Given the description of an element on the screen output the (x, y) to click on. 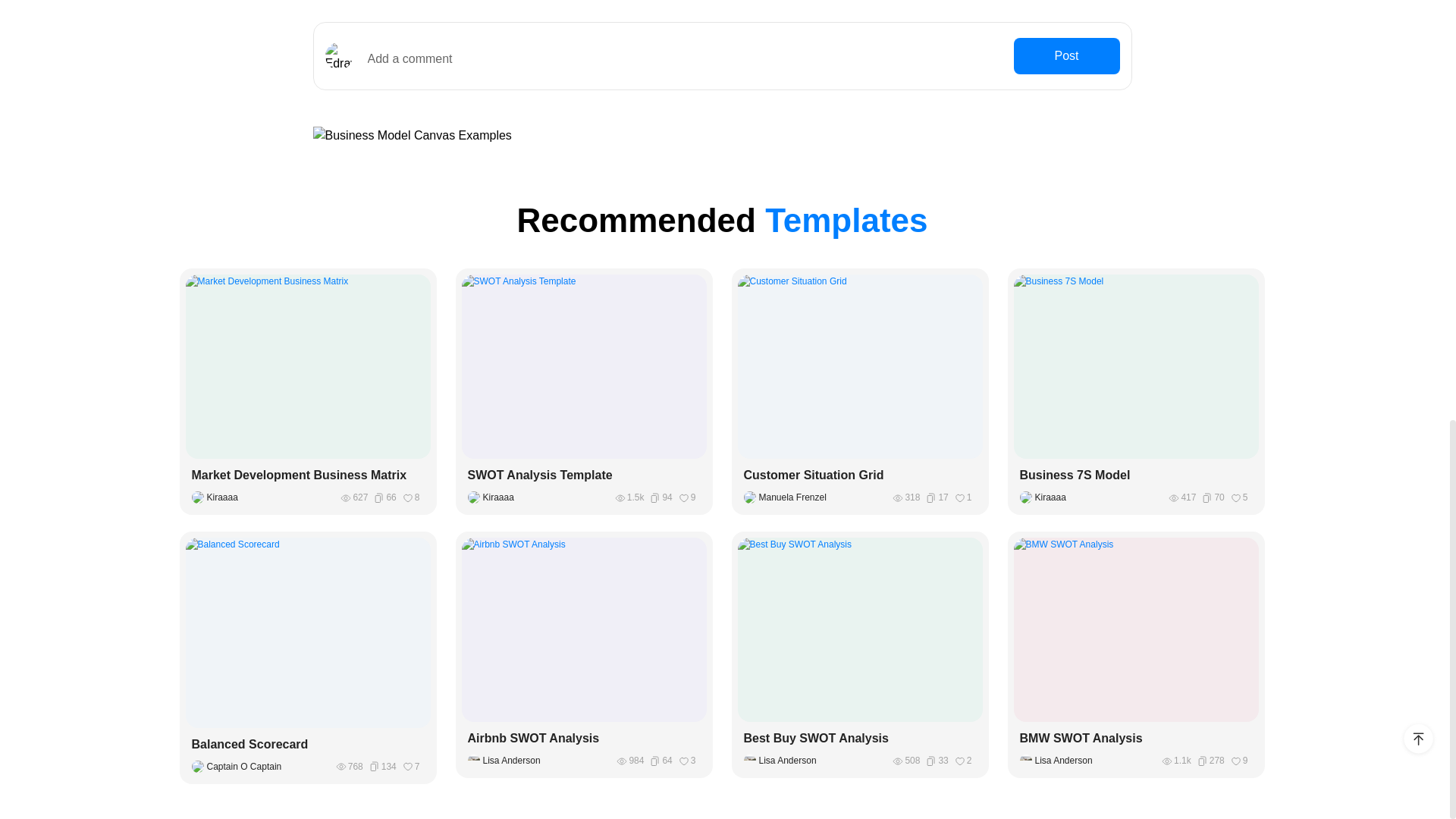
Business 7S Model (1136, 475)
Kiraaaa (217, 497)
Lisa Anderson (783, 760)
Manuela Frenzel (787, 497)
Business 7S Model (1136, 475)
Balanced Scorecard (307, 744)
Lisa Anderson (1059, 760)
Airbnb SWOT Analysis (583, 738)
SWOT Analysis Template (583, 475)
Market Development Business Matrix (307, 475)
